Given the description of an element on the screen output the (x, y) to click on. 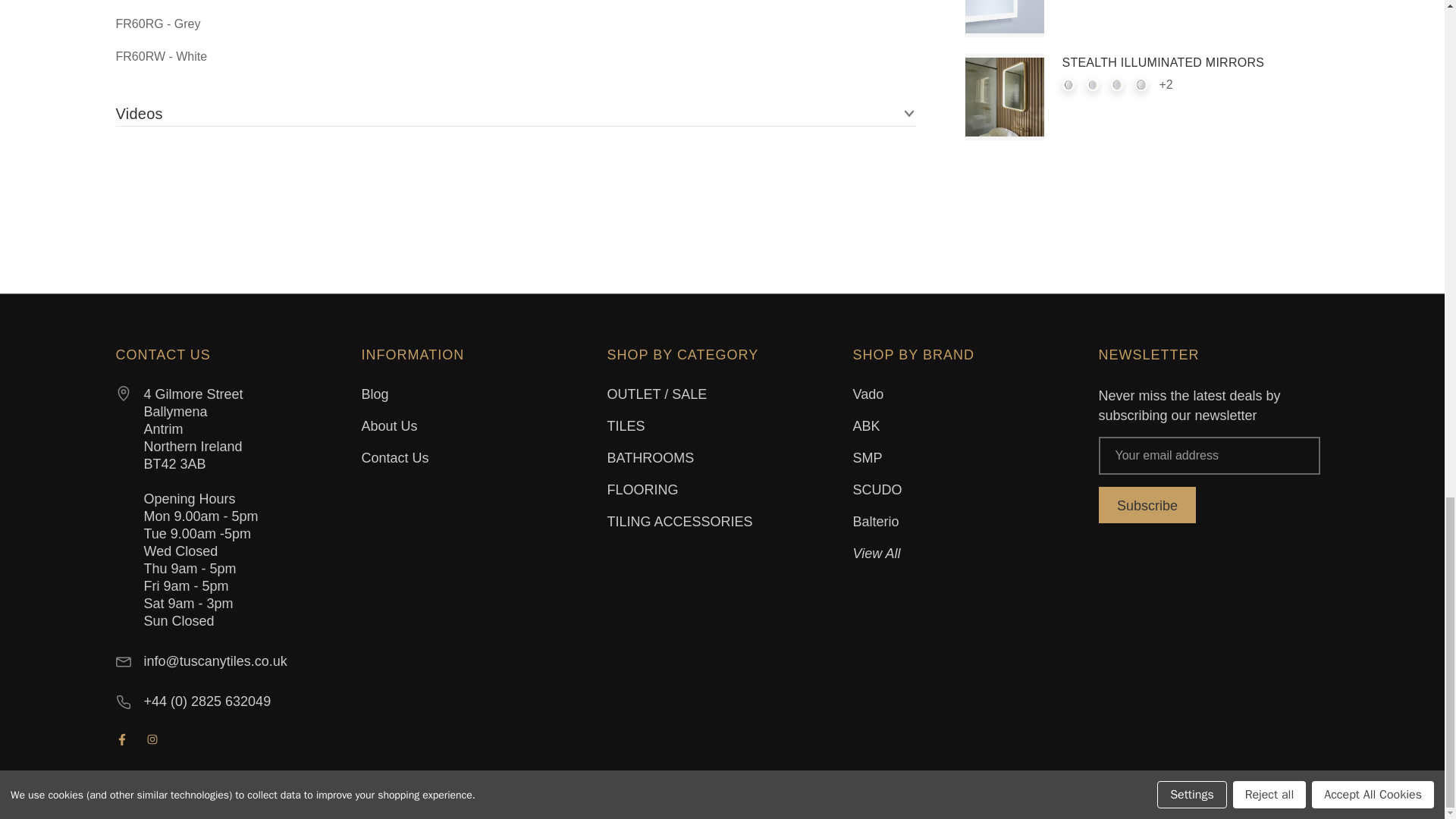
Subscribe (1146, 504)
